Given the description of an element on the screen output the (x, y) to click on. 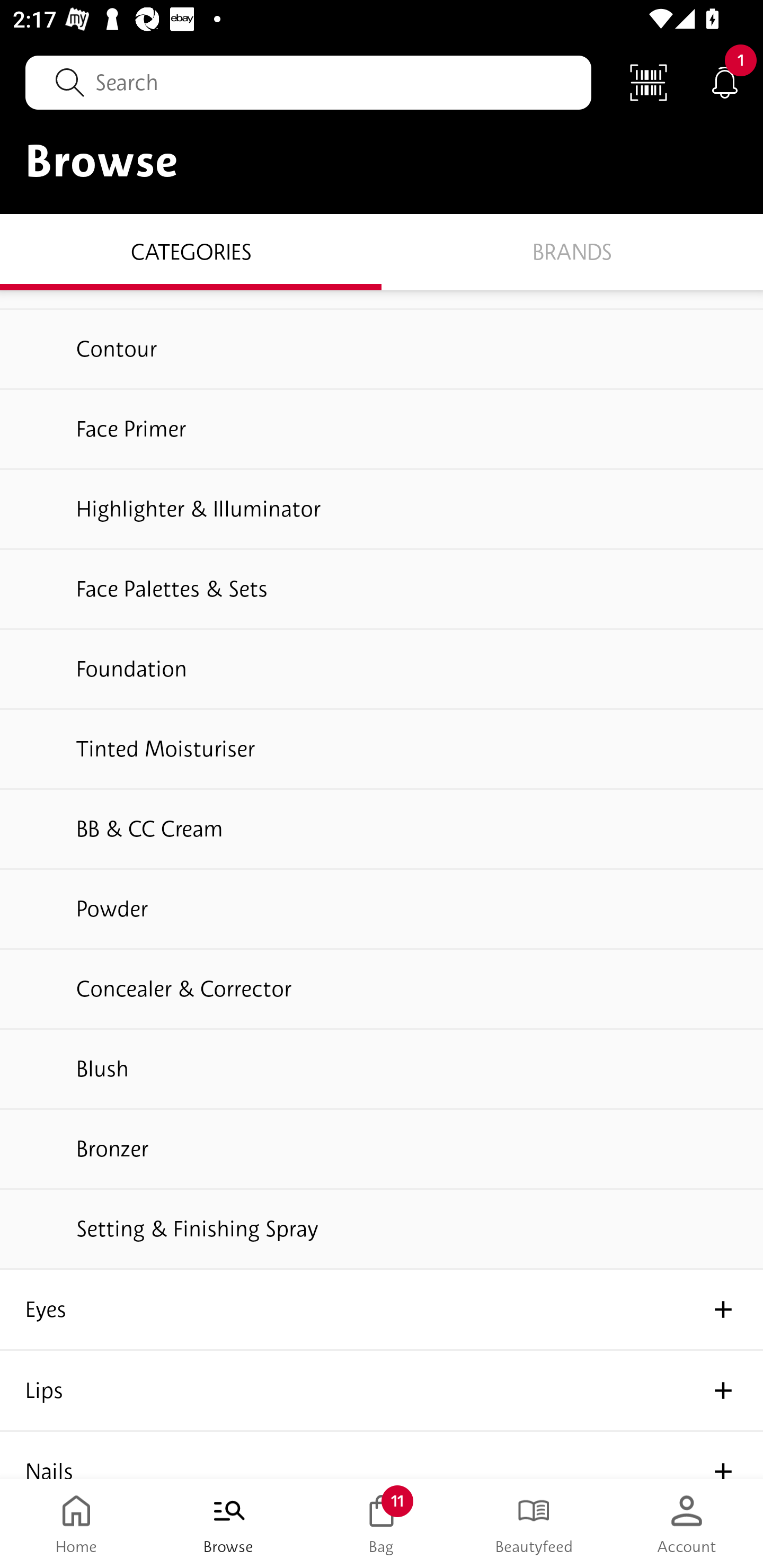
Scan Code (648, 81)
Notifications (724, 81)
Search (308, 81)
Brands BRANDS (572, 251)
Contour (381, 350)
Face Primer (381, 430)
Highlighter & Illuminator (381, 510)
Face Palettes & Sets (381, 590)
Foundation (381, 670)
Tinted Moisturiser (381, 750)
BB & CC Cream (381, 830)
Powder (381, 910)
Concealer & Corrector (381, 990)
Blush (381, 1070)
Bronzer (381, 1150)
Setting & Finishing Spray (381, 1230)
Eyes (381, 1310)
Lips (381, 1390)
Home (76, 1523)
Bag 11 Bag (381, 1523)
Beautyfeed (533, 1523)
Account (686, 1523)
